Given the description of an element on the screen output the (x, y) to click on. 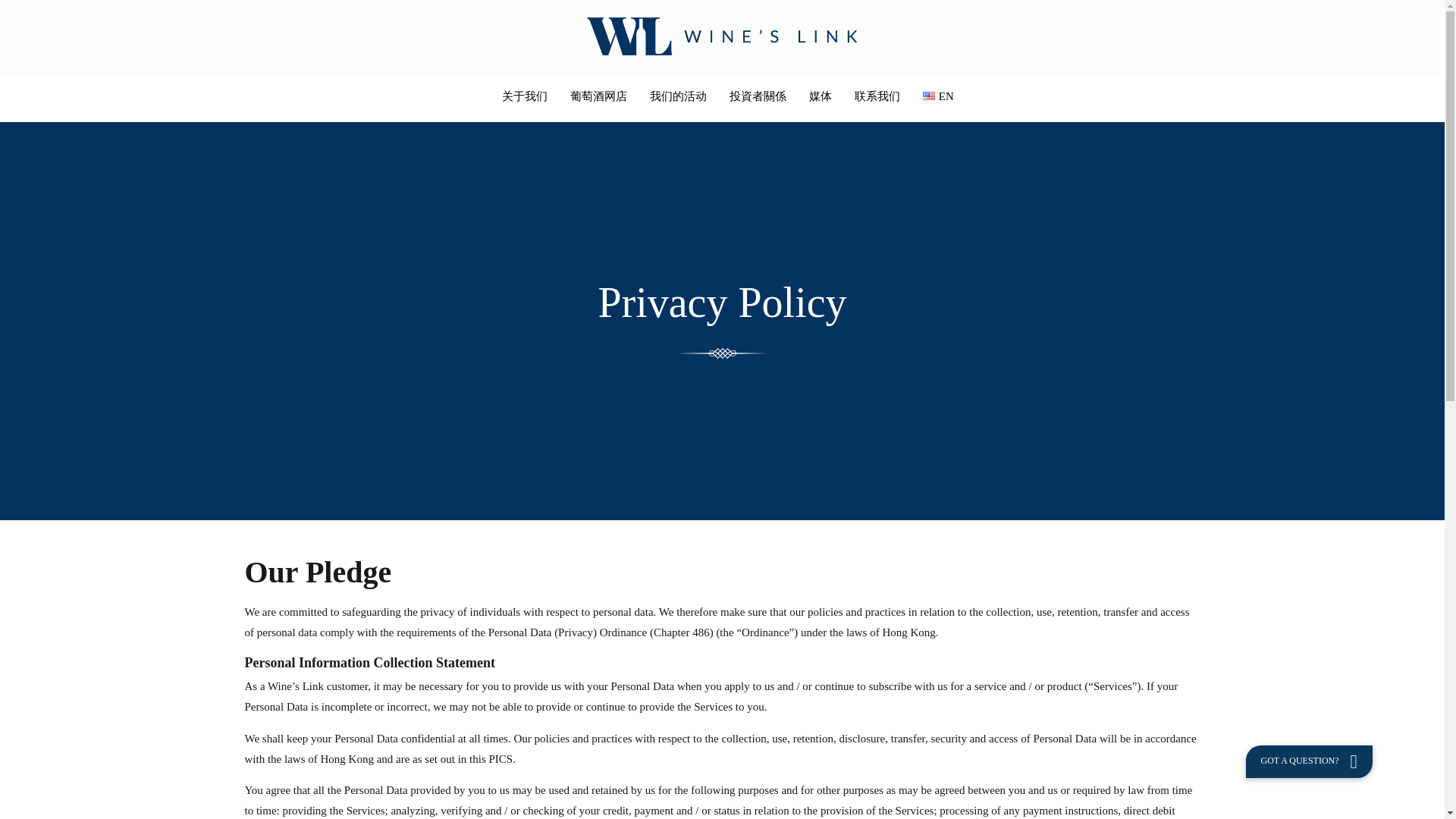
EN (938, 96)
Wine's Link (721, 37)
GOT A QUESTION? (1307, 761)
